Given the description of an element on the screen output the (x, y) to click on. 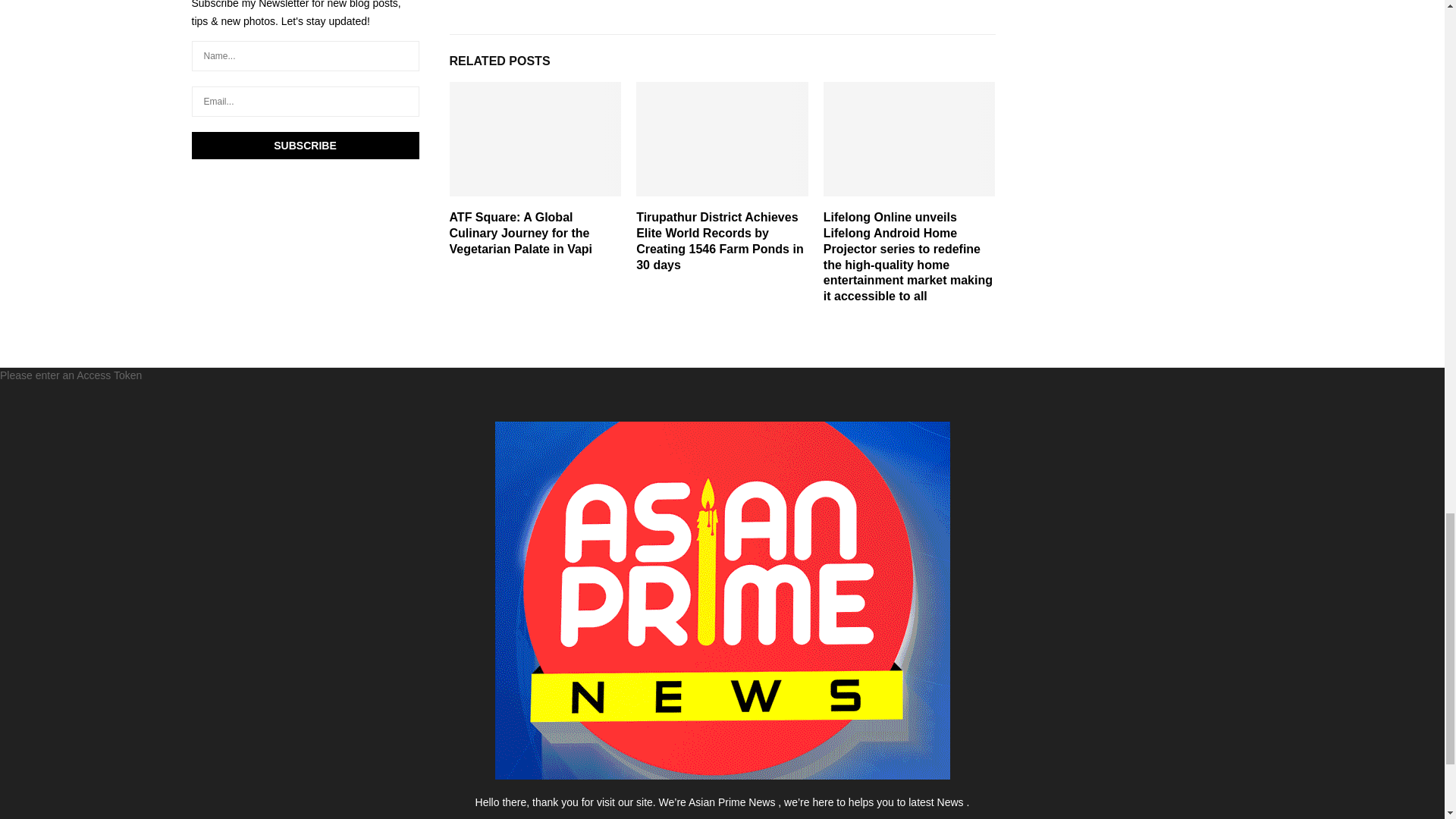
Subscribe (304, 144)
